Given the description of an element on the screen output the (x, y) to click on. 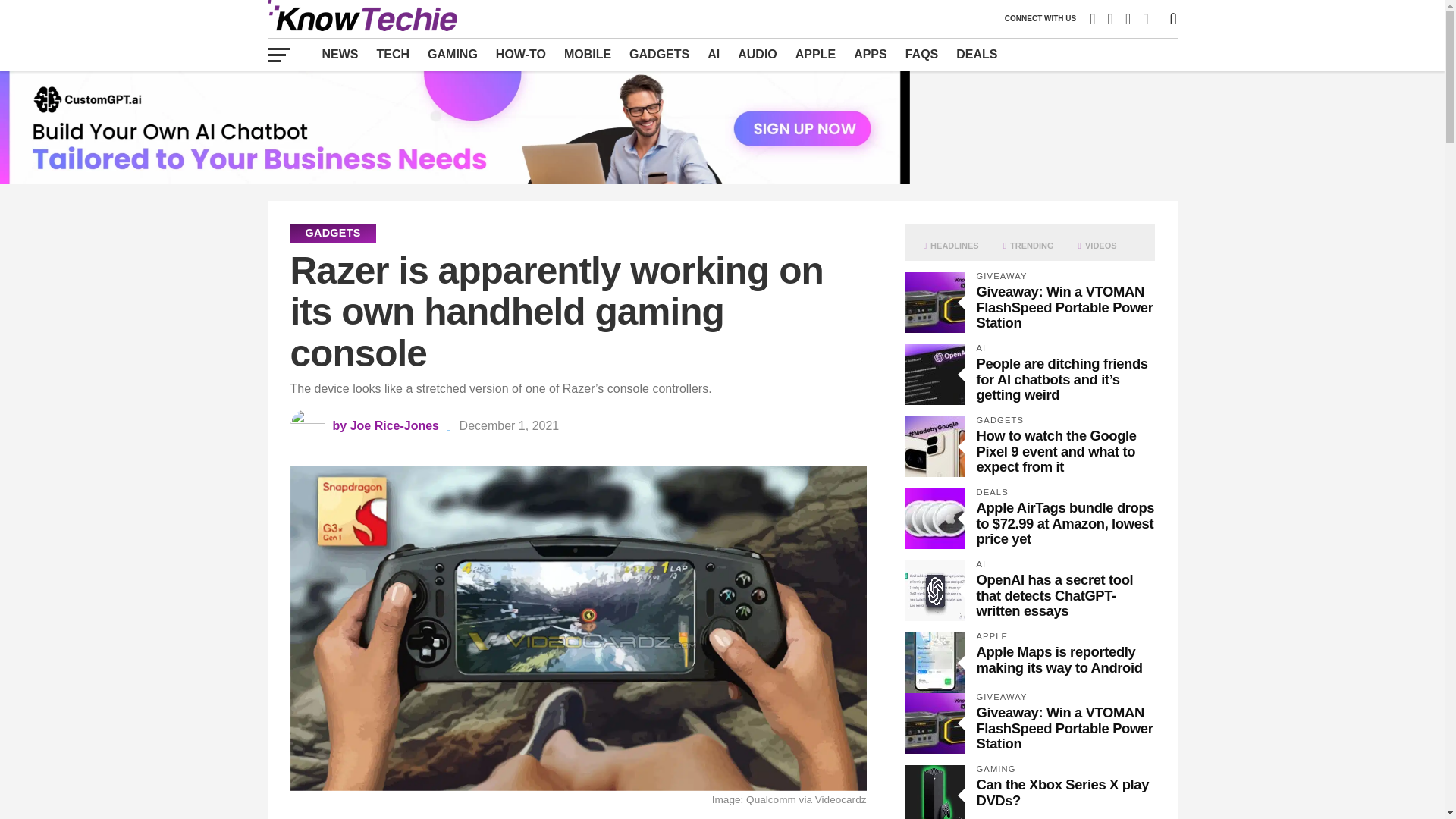
MOBILE (587, 54)
DEALS (976, 54)
GADGETS (659, 54)
APPLE (815, 54)
AI (713, 54)
HOW-TO (520, 54)
GAMING (452, 54)
AUDIO (757, 54)
NEWS (339, 54)
APPS (870, 54)
